Given the description of an element on the screen output the (x, y) to click on. 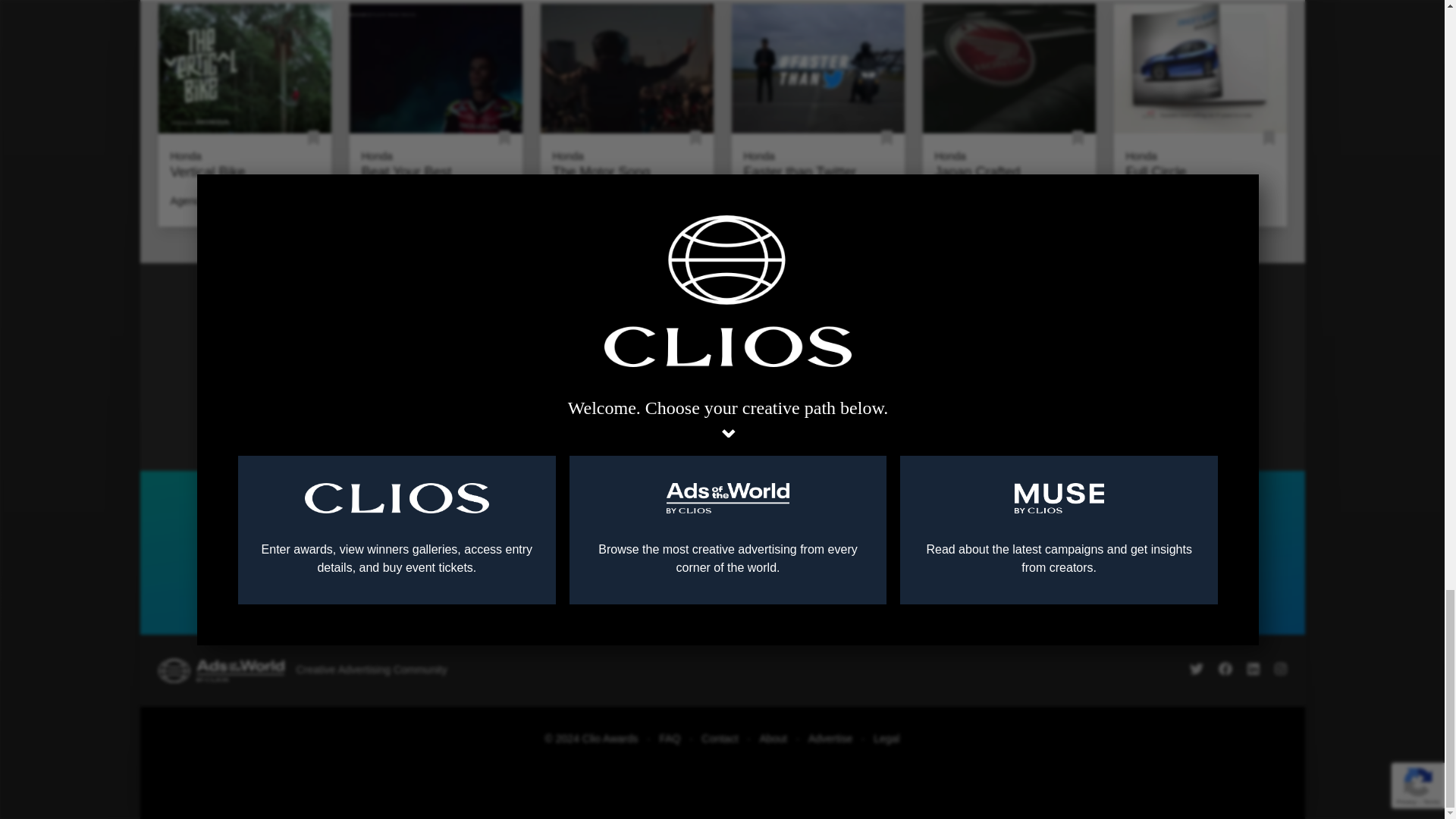
Login to Bookmark (695, 137)
Login to Bookmark (886, 137)
Login to Bookmark (312, 137)
Login to Bookmark (1077, 137)
Login to Bookmark (1269, 137)
Login to Bookmark (505, 137)
